Given the description of an element on the screen output the (x, y) to click on. 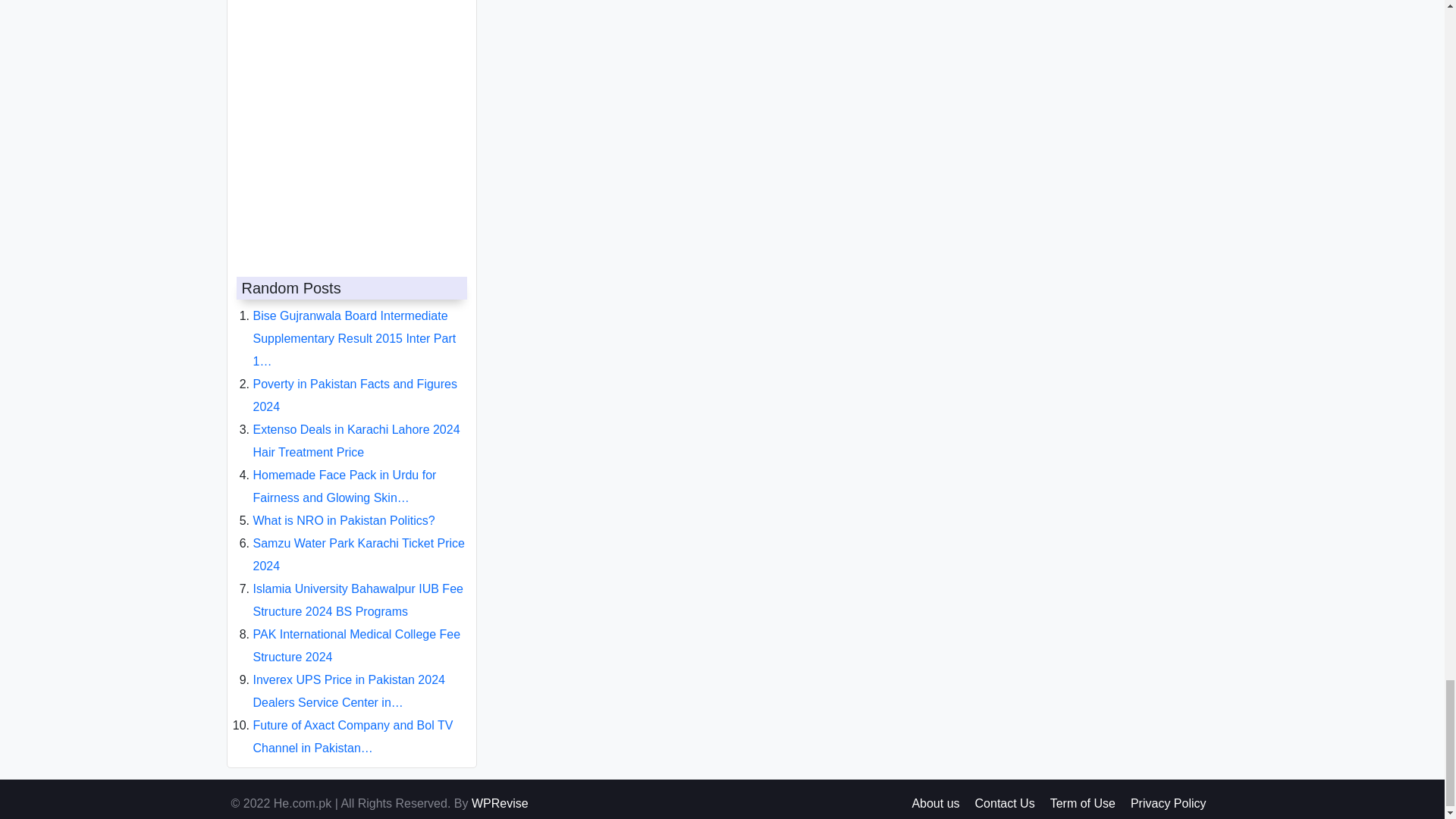
Extenso Deals in Karachi Lahore 2024 Hair Treatment Price (356, 428)
Advertisement (346, 123)
Poverty in Pakistan Facts and Figures 2024 (355, 383)
